Given the description of an element on the screen output the (x, y) to click on. 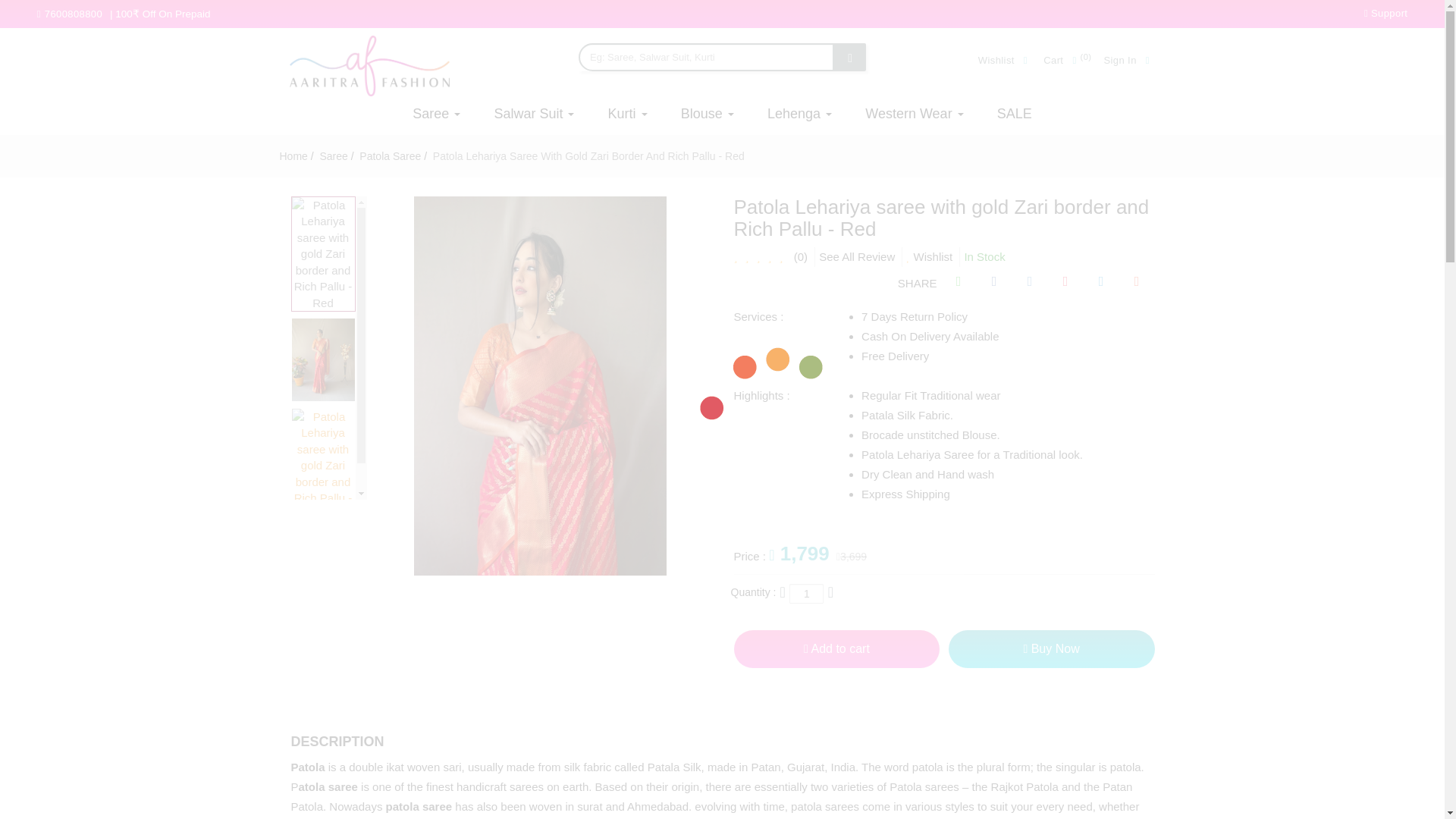
1 (806, 593)
Sign In   (1128, 60)
7600808800 (73, 13)
Patola saree (388, 155)
Saree (332, 155)
Saree (444, 113)
Support (1385, 12)
Salwar Suit (534, 113)
Wishlist      (1007, 60)
Home (293, 155)
